Given the description of an element on the screen output the (x, y) to click on. 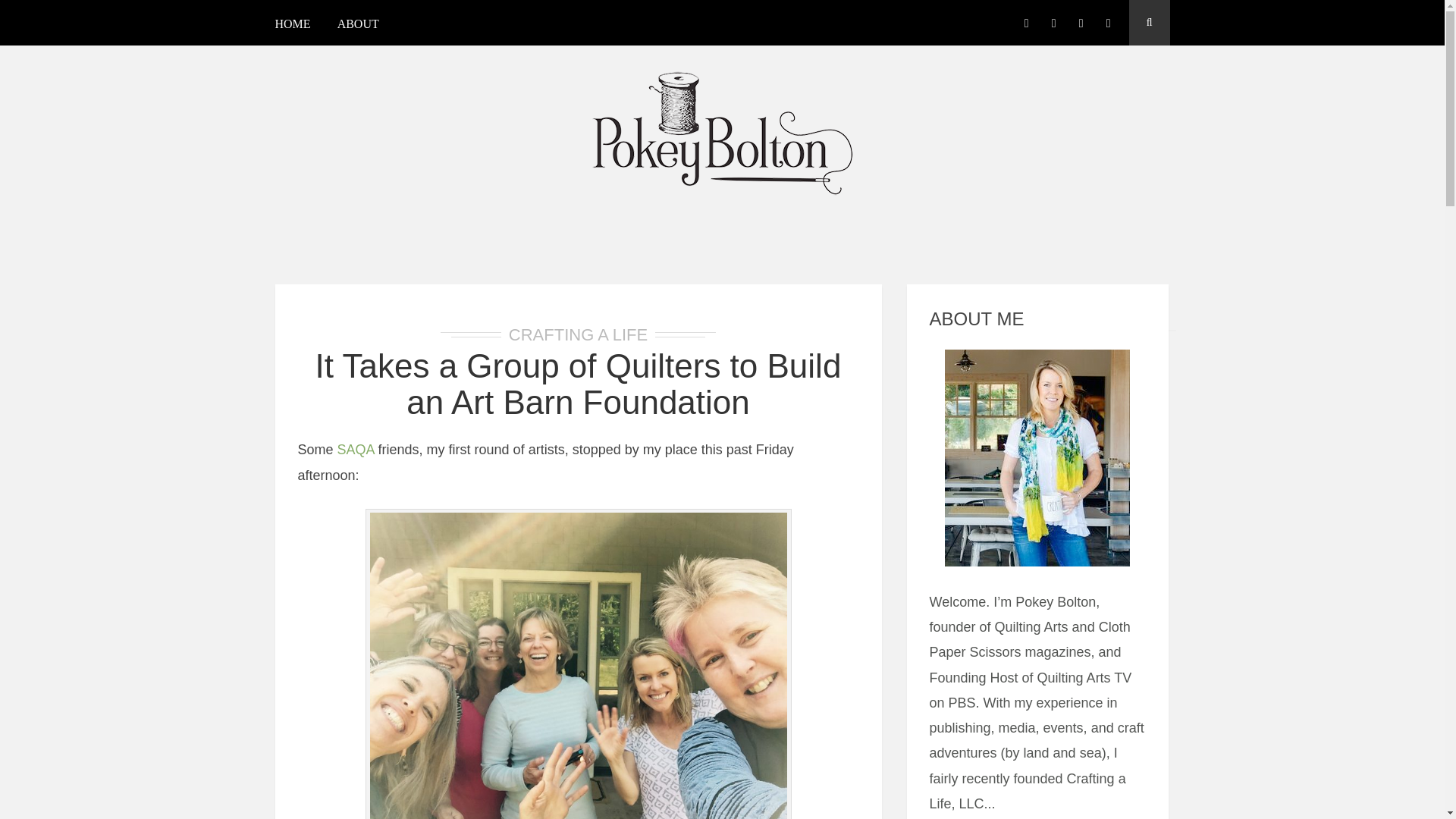
SAQA (355, 449)
CRAFTING A LIFE (577, 334)
It Takes a Group of Quilters to Build an Art Barn Foundation (578, 383)
ABOUT (358, 25)
HOME (298, 25)
